Given the description of an element on the screen output the (x, y) to click on. 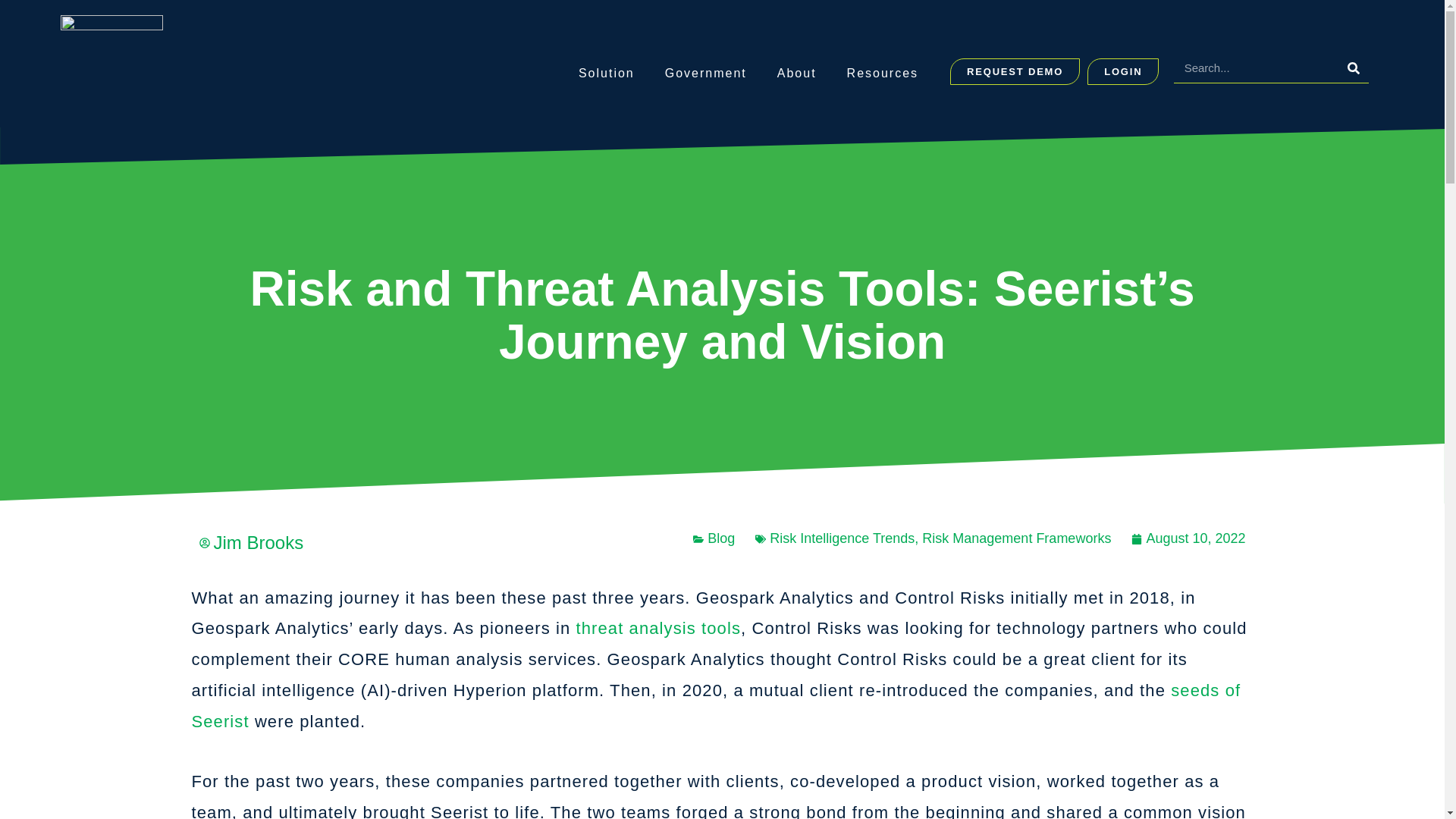
Seerist logo (112, 71)
LOGIN (1122, 71)
Risk Management Frameworks (1015, 538)
REQUEST DEMO (1015, 71)
Risk Intelligence Trends (842, 538)
threat analysis tools (658, 628)
About (796, 73)
seeds of Seerist (715, 705)
Solution (606, 73)
Blog (721, 538)
